Given the description of an element on the screen output the (x, y) to click on. 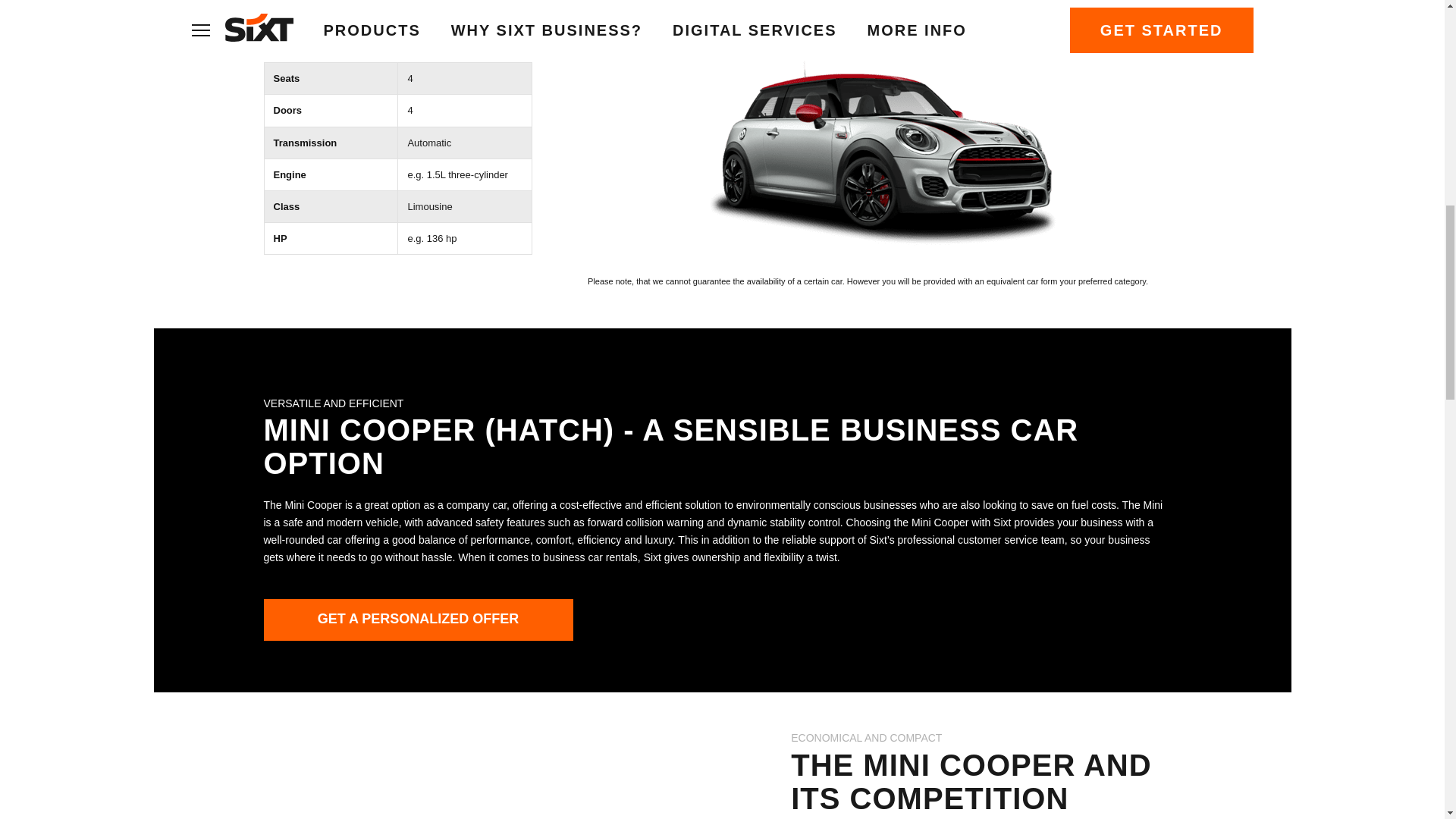
GET A PERSONALIZED OFFER (418, 619)
